Given the description of an element on the screen output the (x, y) to click on. 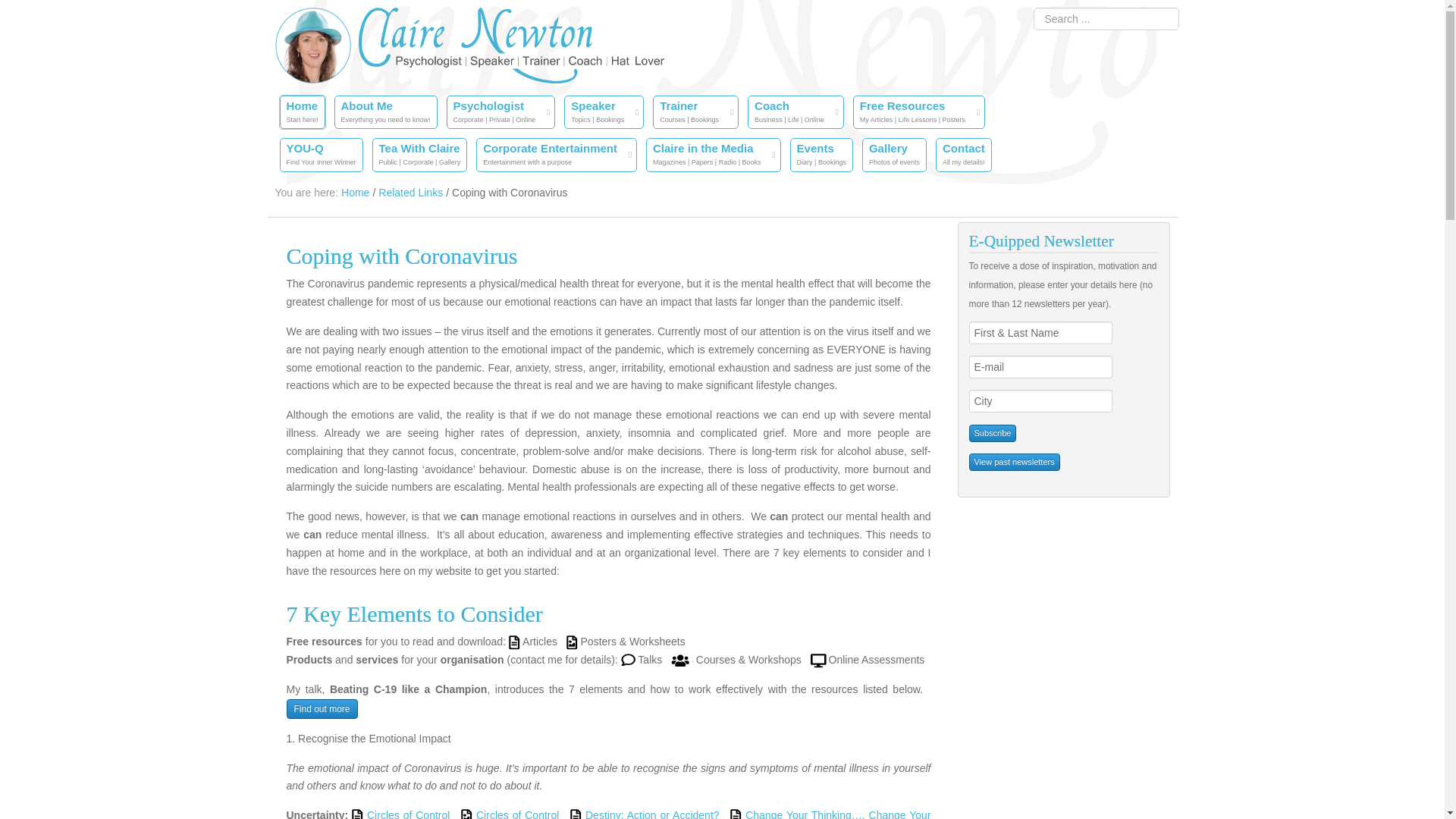
E-mail (301, 111)
Subscribe (1040, 366)
Home (556, 154)
City (992, 433)
E-mail (354, 192)
